Given the description of an element on the screen output the (x, y) to click on. 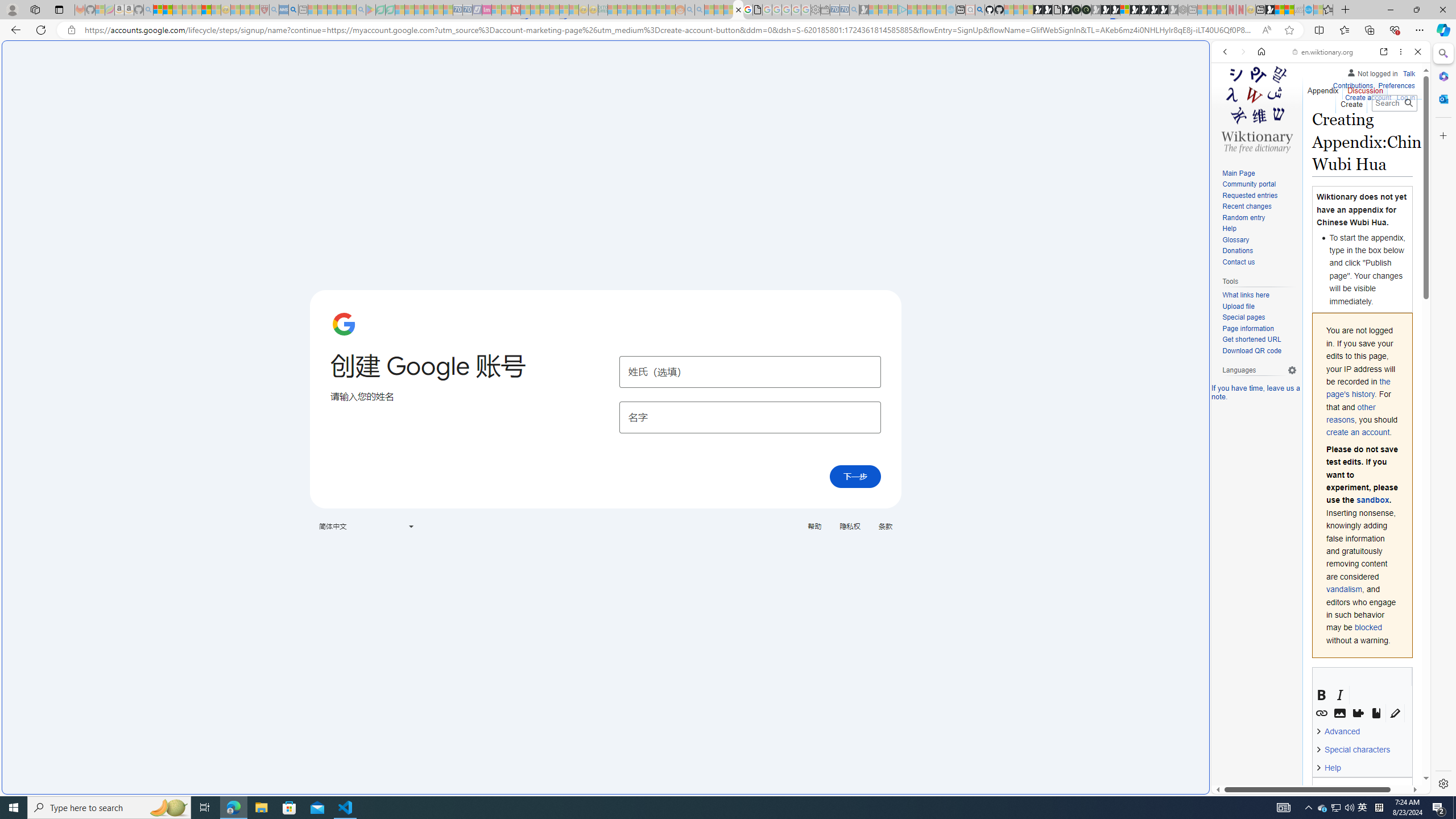
Future Focus Report 2024 (1085, 9)
Log in (1405, 98)
Discussion (1365, 87)
Tabs you've opened (885, 151)
Reference (1376, 713)
Go (1408, 102)
What links here (1259, 295)
Contact us (1259, 262)
